Given the description of an element on the screen output the (x, y) to click on. 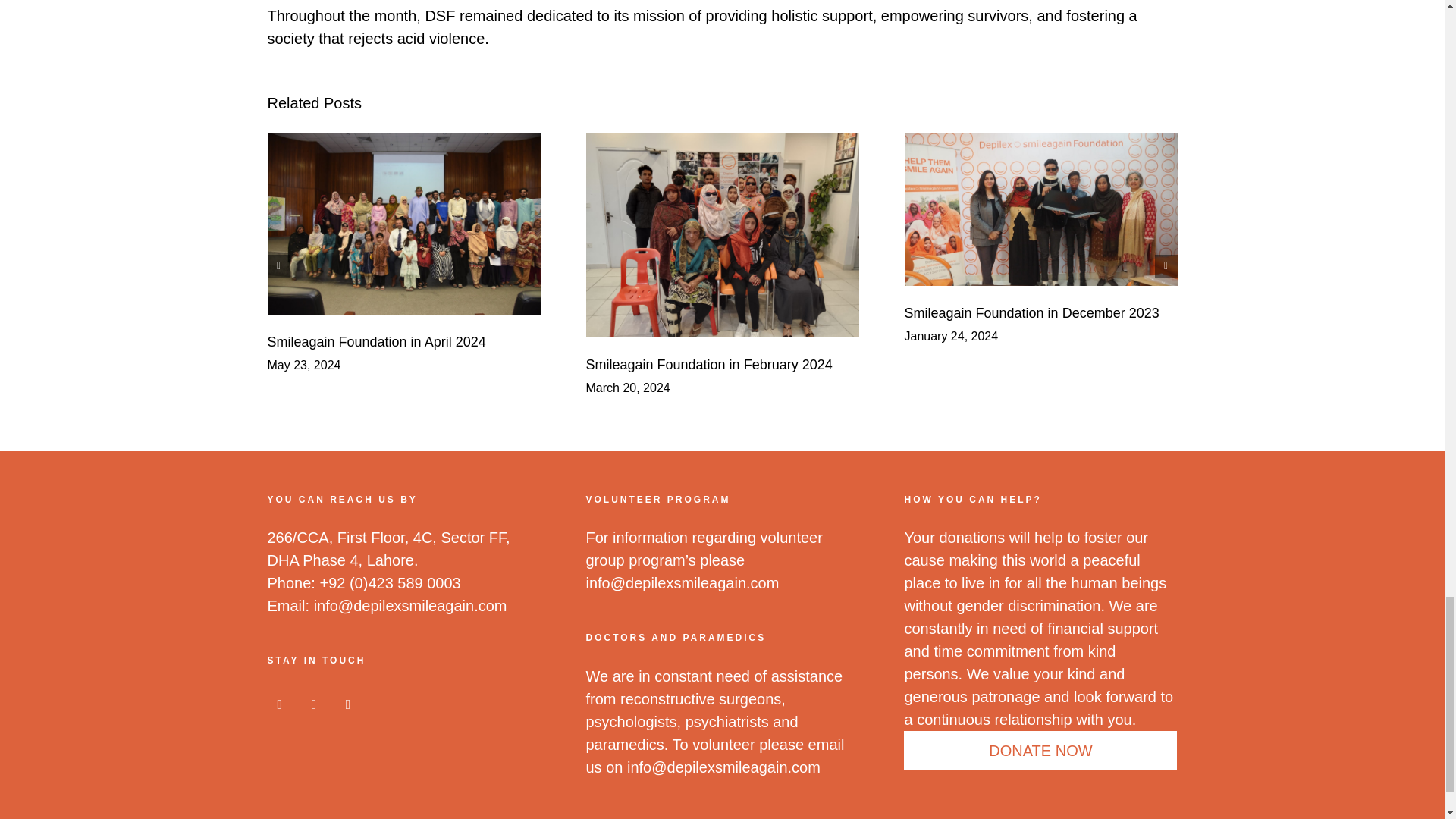
Smileagain Foundation in April 2024 (375, 341)
Smileagain Foundation in February 2024 (708, 364)
Smileagain Foundation in December 2023 (1031, 313)
